Given the description of an element on the screen output the (x, y) to click on. 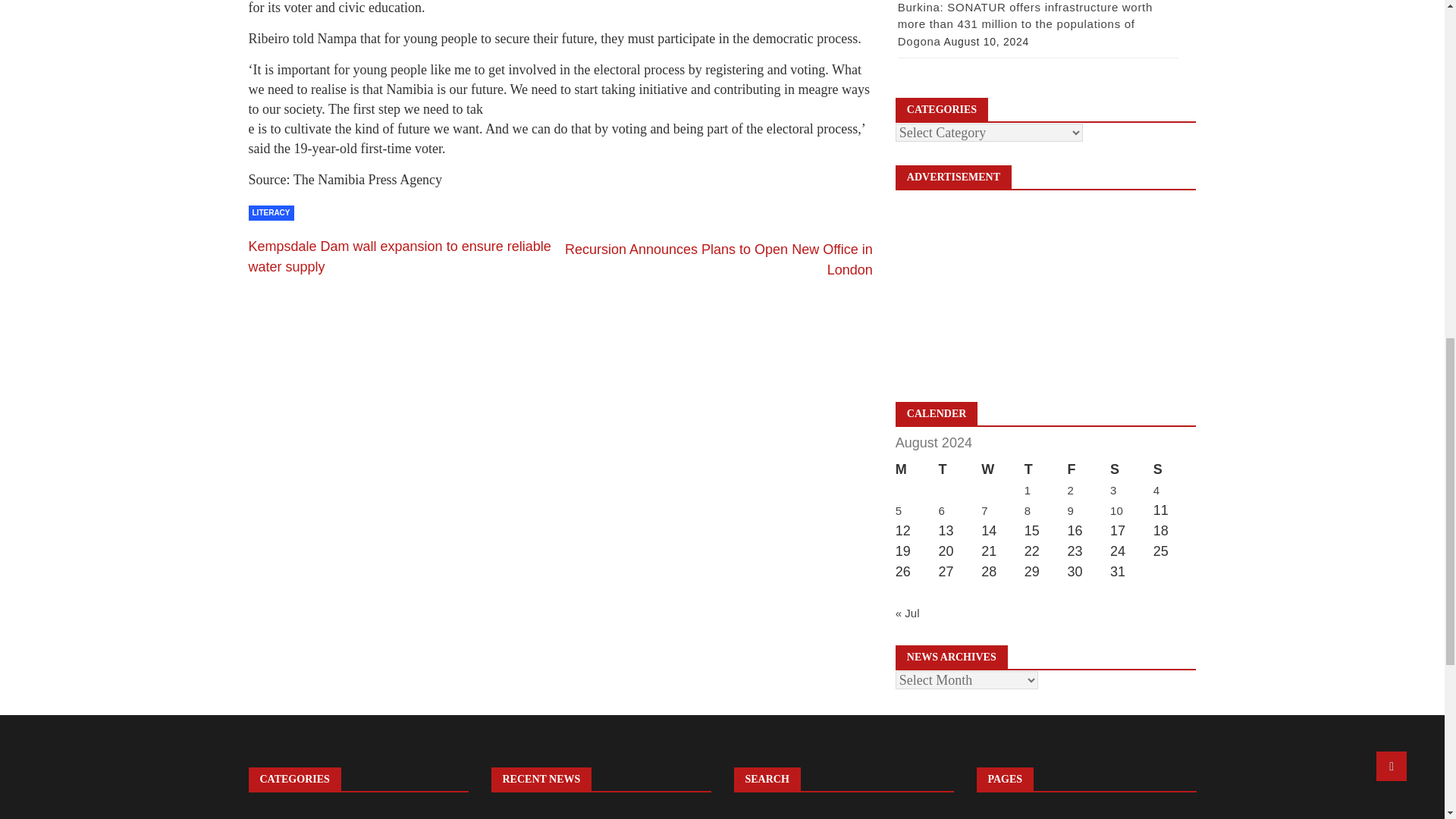
Friday (1088, 469)
Wednesday (1003, 469)
Sunday (1174, 469)
Monday (917, 469)
Saturday (1131, 469)
Tuesday (959, 469)
Thursday (1046, 469)
